Given the description of an element on the screen output the (x, y) to click on. 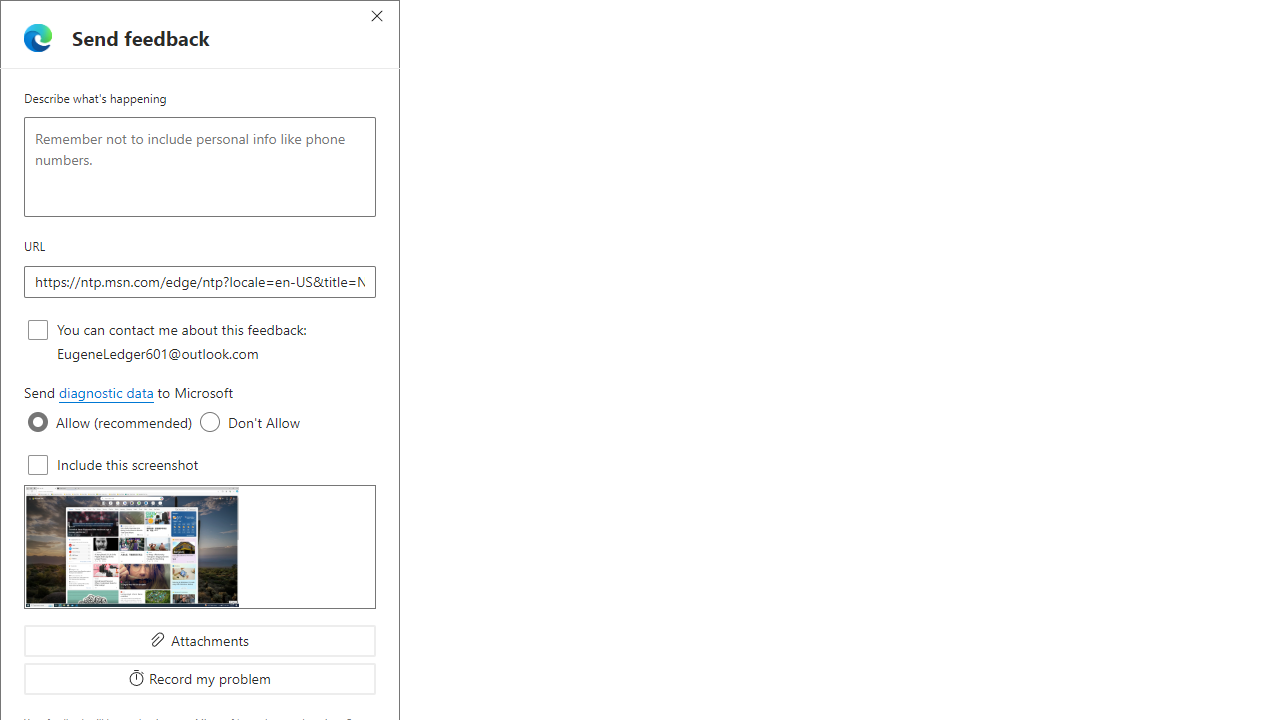
Allow (recommended) (38, 421)
Don't Allow (210, 421)
Attachments (200, 640)
diagnostic data (105, 393)
URL (200, 281)
Record my problem (200, 677)
Include this screenshot (38, 464)
Describe what's happening (200, 167)
